Given the description of an element on the screen output the (x, y) to click on. 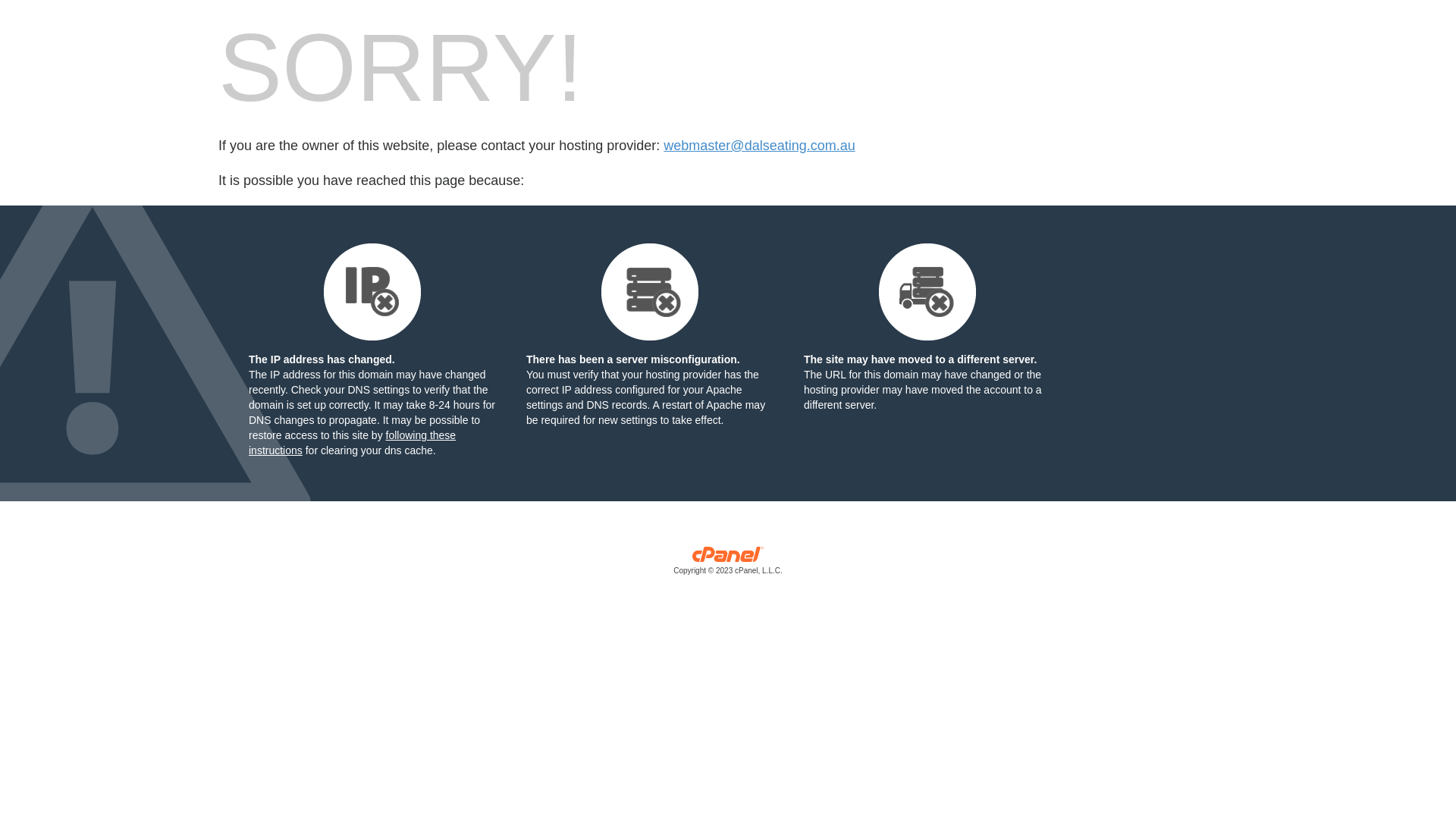
webmaster@dalseating.com.au Element type: text (758, 145)
following these instructions Element type: text (351, 442)
